Given the description of an element on the screen output the (x, y) to click on. 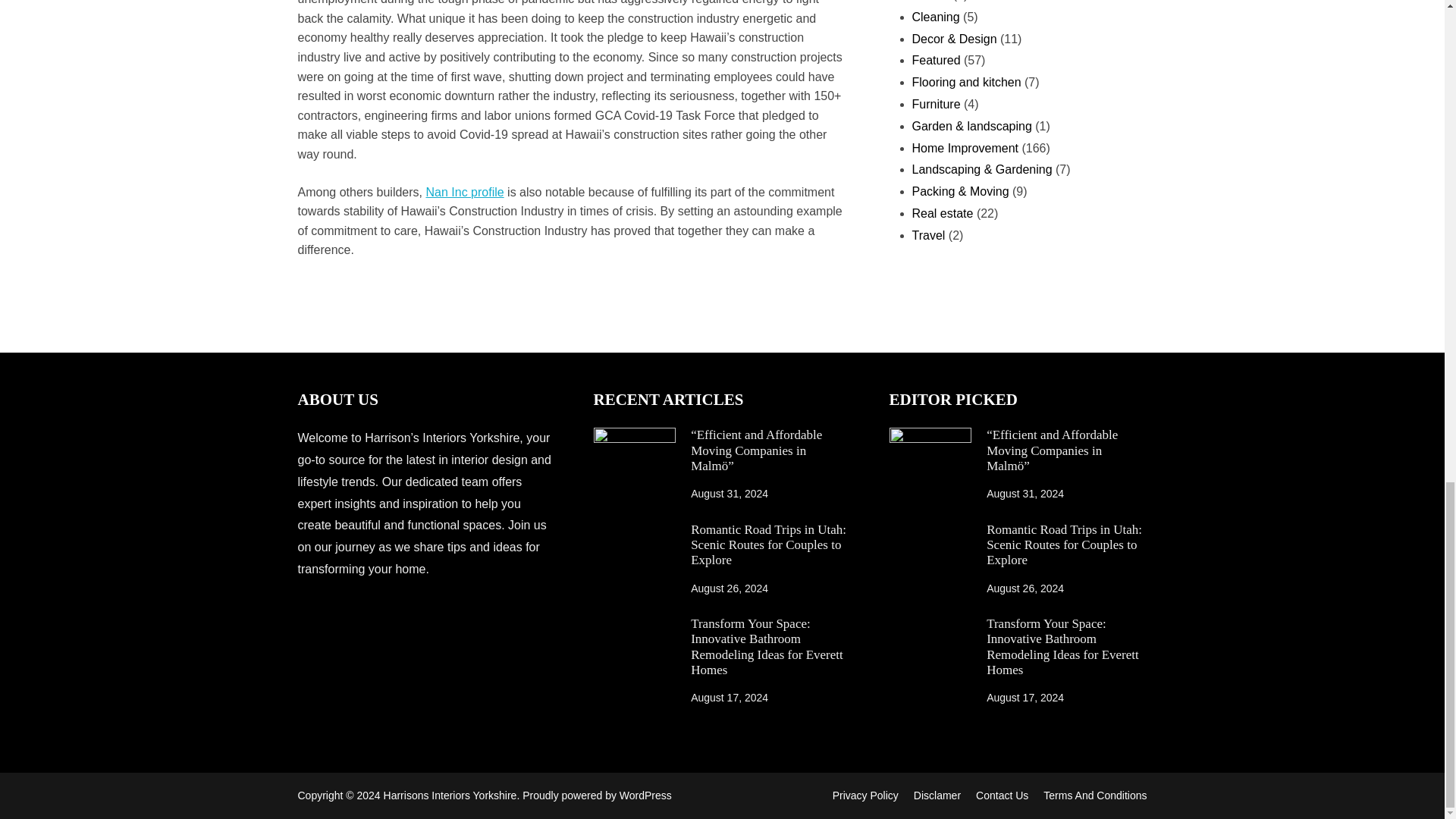
Casino (930, 0)
Furniture (935, 103)
Flooring and kitchen (965, 82)
Cleaning (935, 16)
Nan Inc profile (464, 192)
Home Improvement (964, 147)
Featured (935, 60)
Harrisons Interiors Yorkshire (450, 795)
